Given the description of an element on the screen output the (x, y) to click on. 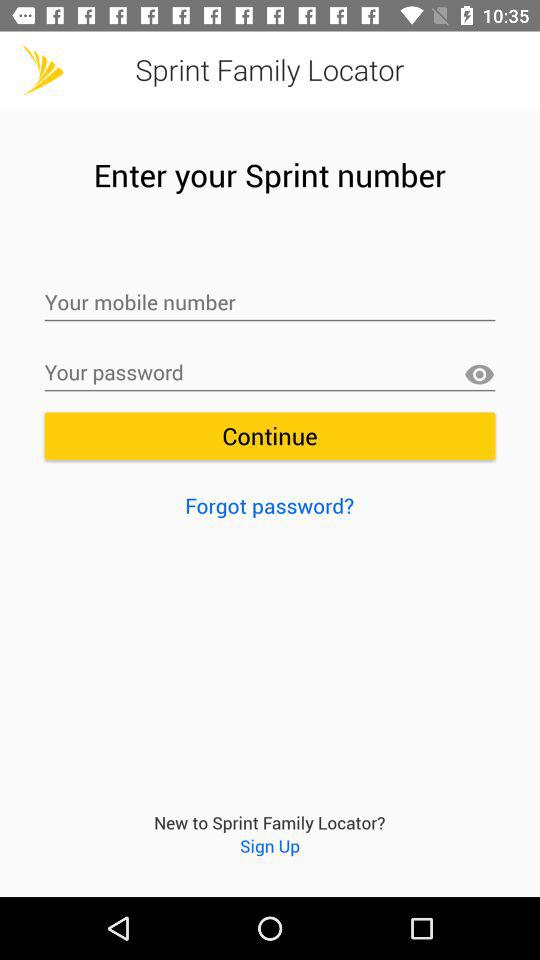
show password (479, 374)
